Given the description of an element on the screen output the (x, y) to click on. 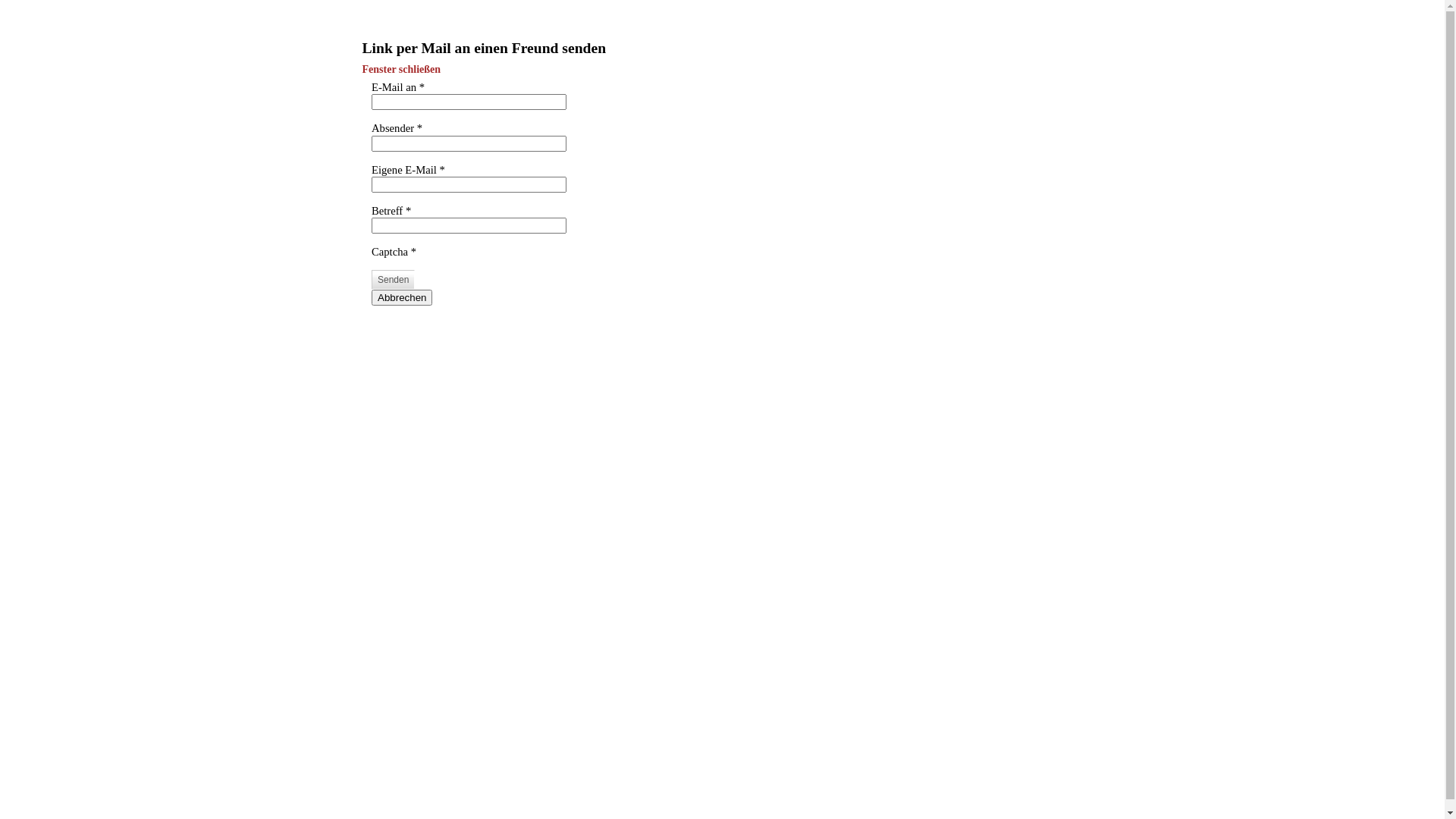
Abbrechen Element type: text (401, 297)
Senden Element type: text (392, 279)
